Given the description of an element on the screen output the (x, y) to click on. 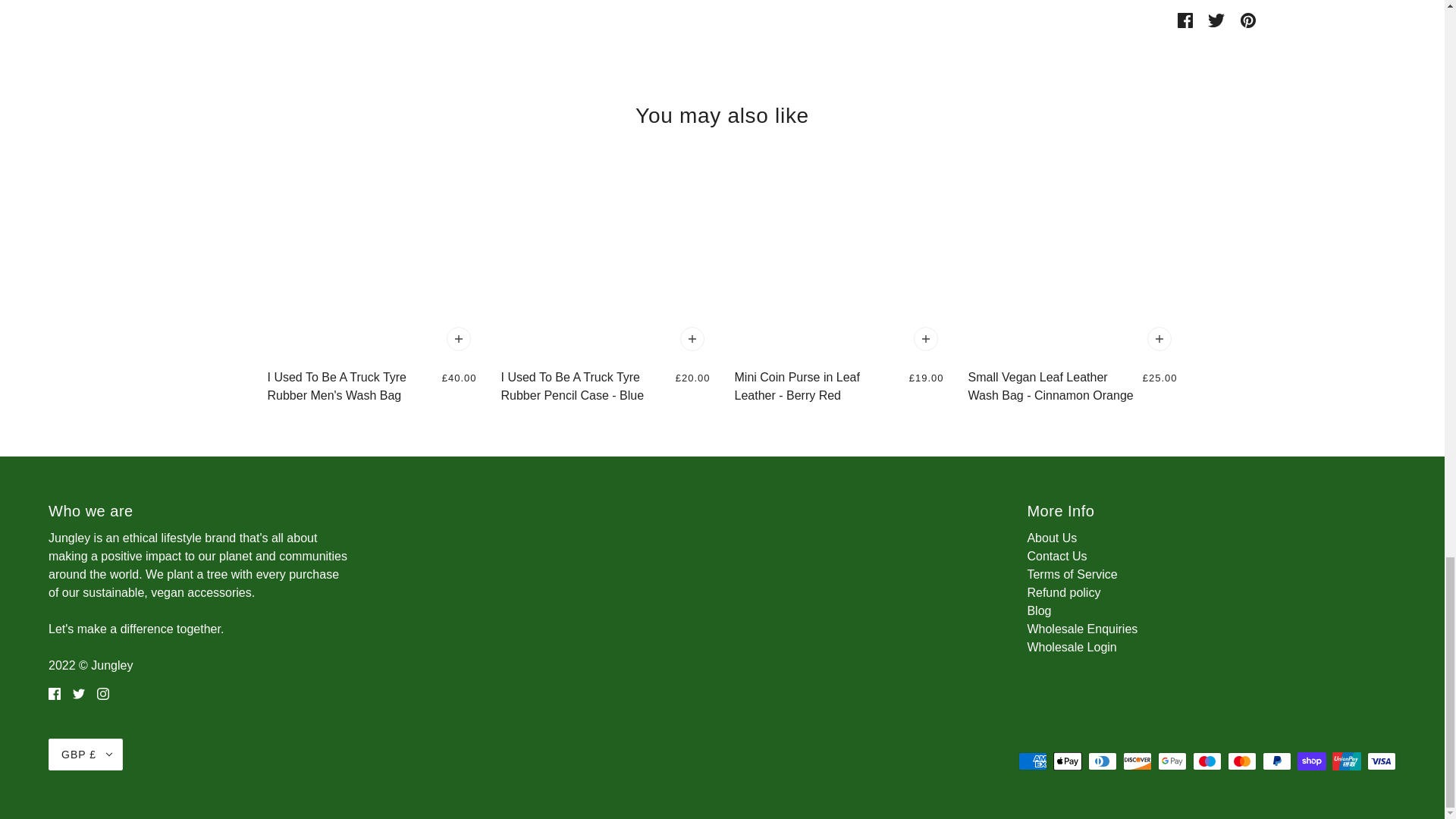
Apple Pay (1066, 761)
Google Pay (1171, 761)
Wholesale Enquiries (1081, 628)
About Us (1051, 537)
Maestro (1206, 761)
Refund policy (1063, 592)
American Express (1031, 761)
Wholesale Login (1071, 646)
Diners Club (1101, 761)
Contact Us (1056, 555)
